Given the description of an element on the screen output the (x, y) to click on. 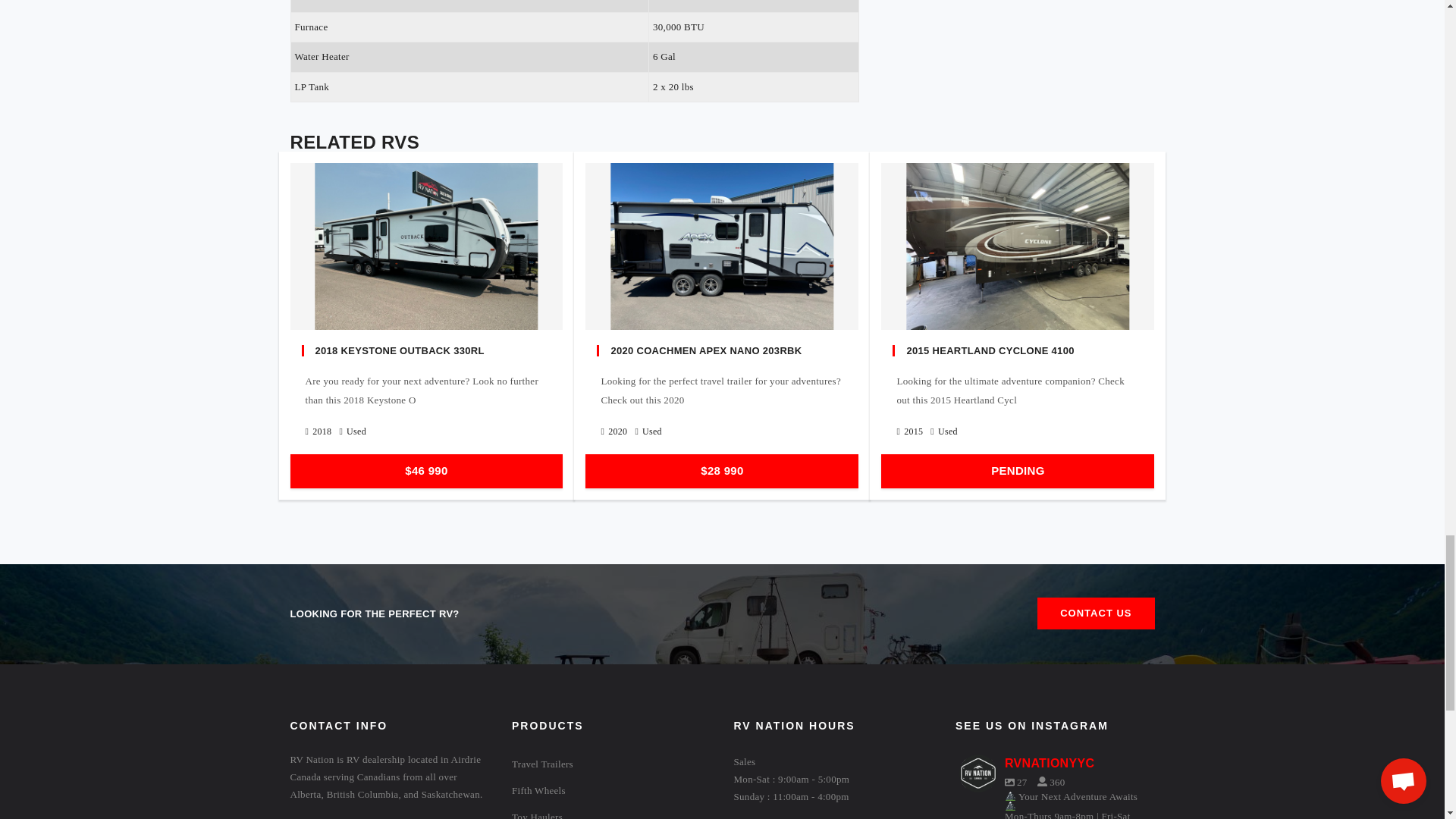
button (1095, 613)
